Given the description of an element on the screen output the (x, y) to click on. 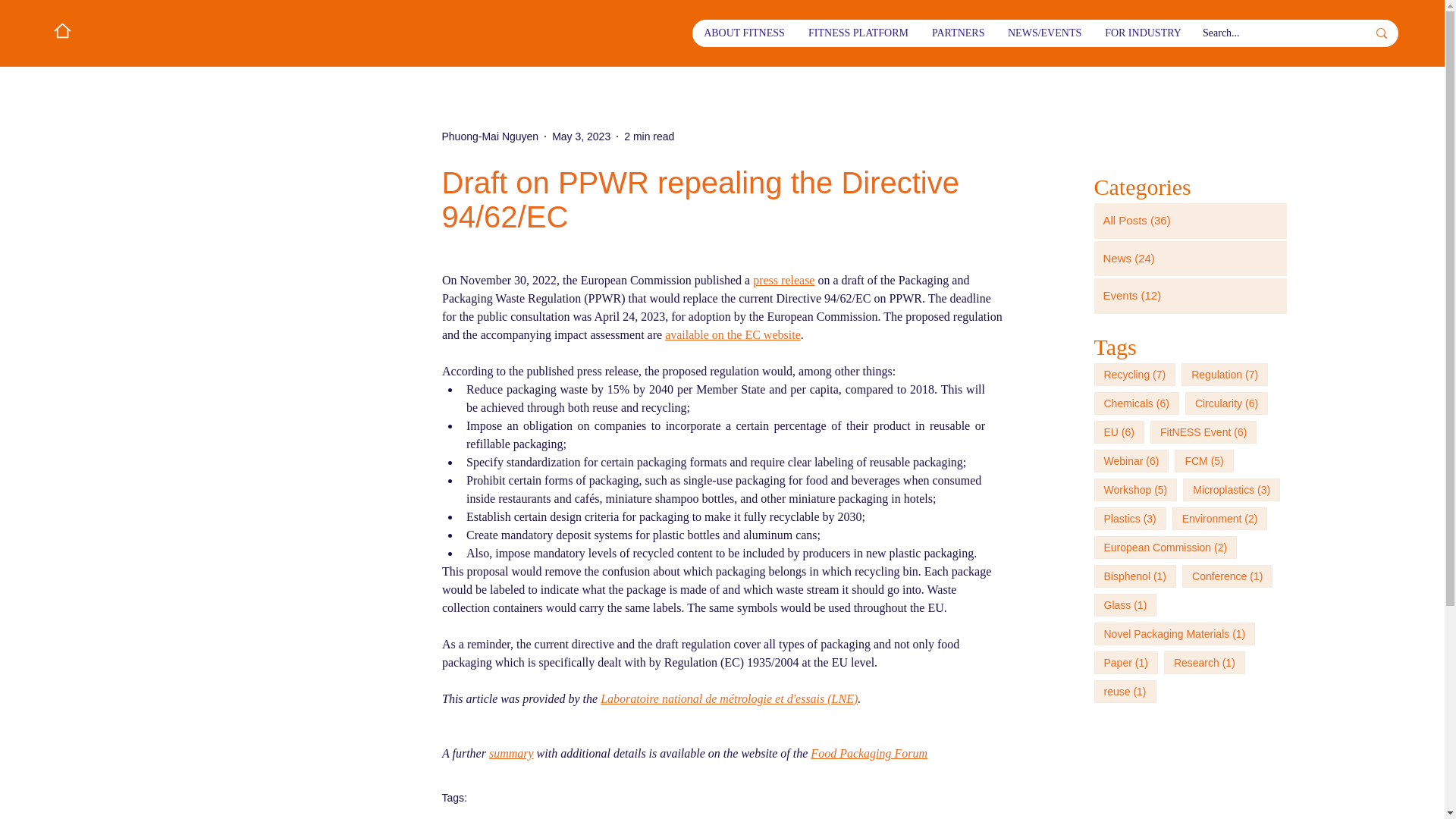
FITNESS PLATFORM (858, 32)
2 min read (649, 136)
press release (782, 279)
available on the EC website (732, 334)
Food Packaging Forum (868, 753)
May 3, 2023 (580, 136)
Phuong-Mai Nguyen (489, 136)
summary (509, 753)
Phuong-Mai Nguyen (489, 136)
FOR INDUSTRY (1142, 32)
